Given the description of an element on the screen output the (x, y) to click on. 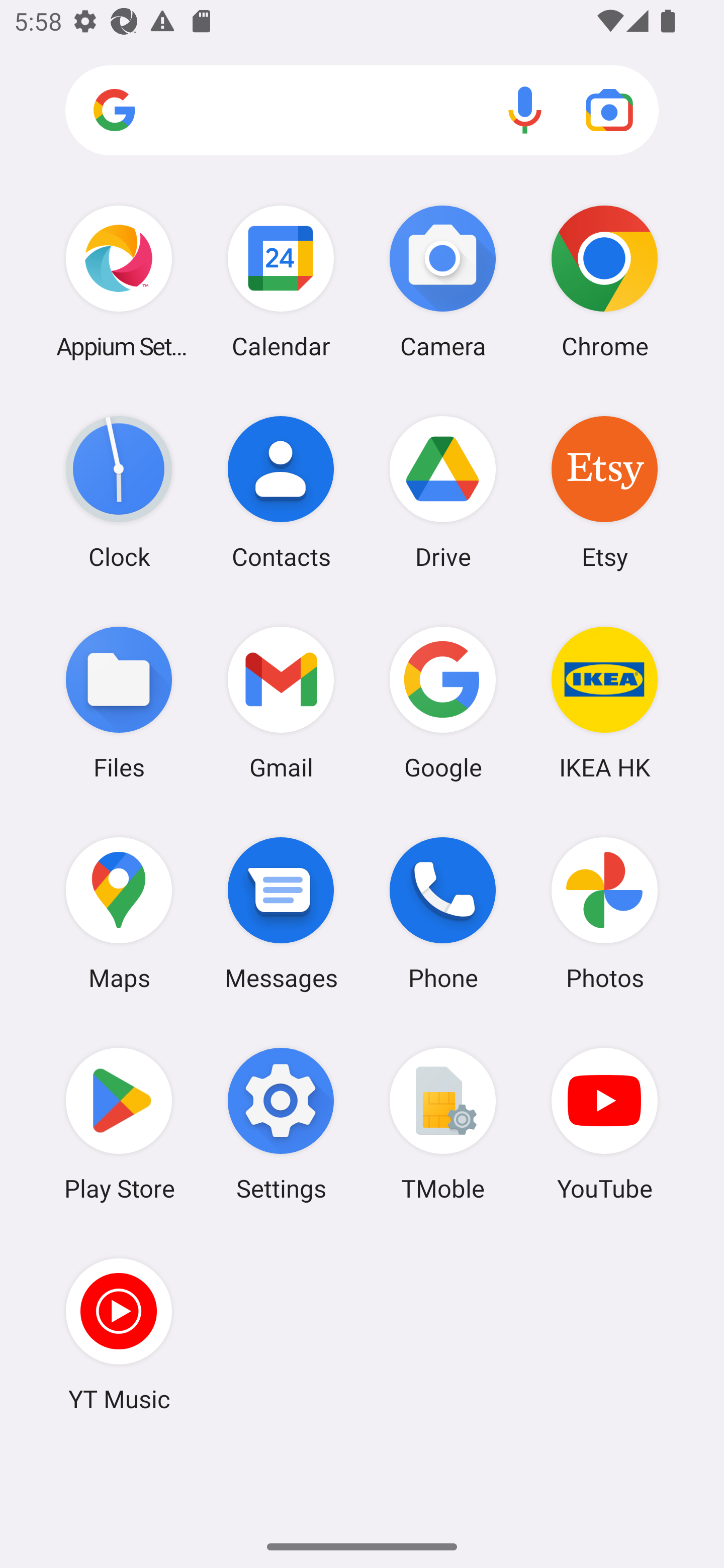
Search apps, web and more (361, 110)
Voice search (524, 109)
Google Lens (608, 109)
Appium Settings (118, 281)
Calendar (280, 281)
Camera (443, 281)
Chrome (604, 281)
Clock (118, 492)
Contacts (280, 492)
Drive (443, 492)
Etsy (604, 492)
Files (118, 702)
Gmail (280, 702)
Google (443, 702)
IKEA HK (604, 702)
Maps (118, 913)
Messages (280, 913)
Phone (443, 913)
Photos (604, 913)
Play Store (118, 1124)
Settings (280, 1124)
TMoble (443, 1124)
YouTube (604, 1124)
YT Music (118, 1334)
